Given the description of an element on the screen output the (x, y) to click on. 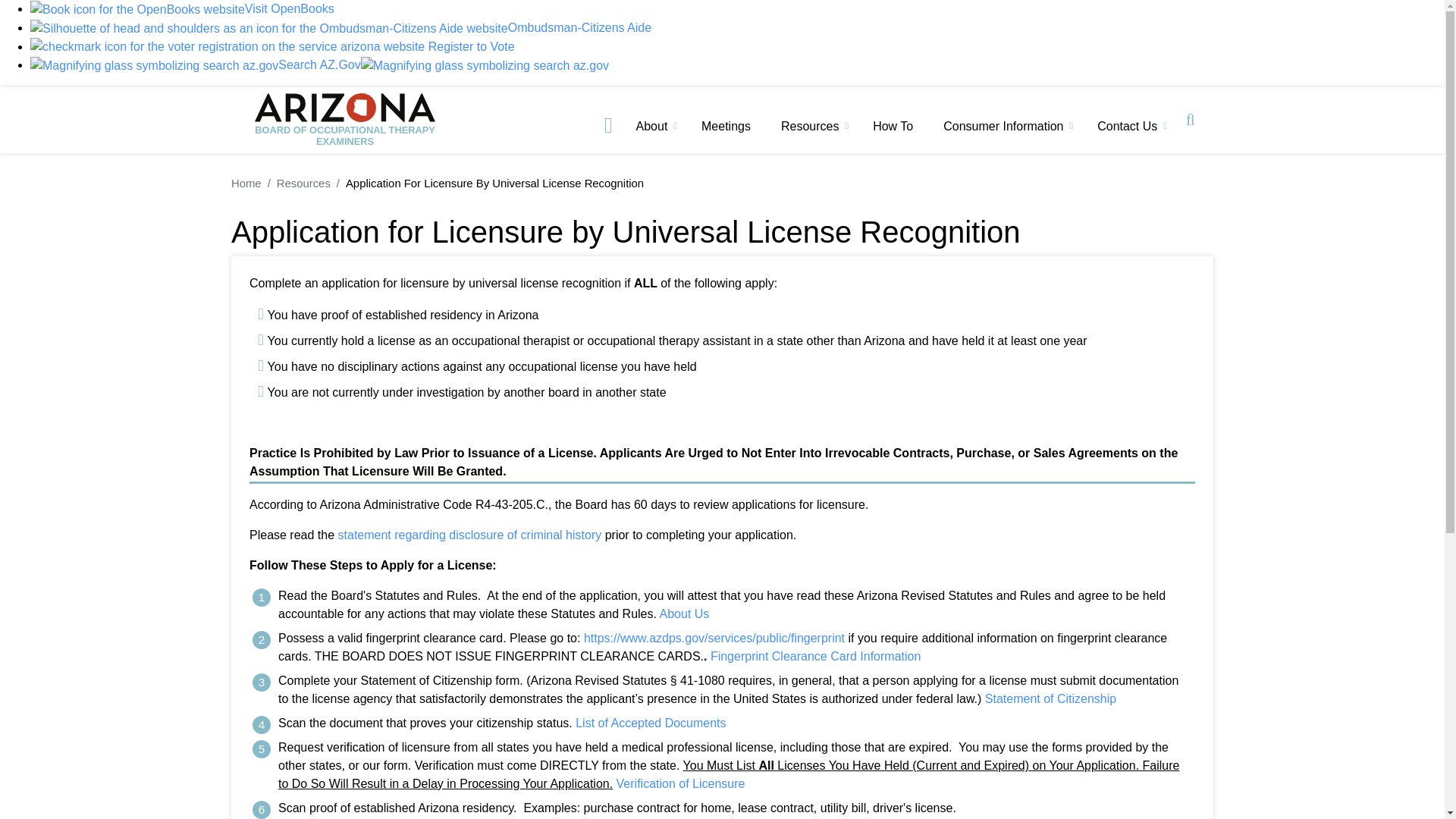
Meetings (729, 132)
Search AZ.Gov (195, 64)
Visit OpenBooks (182, 8)
About (655, 132)
Register to Vote (272, 46)
Consumer Information (1005, 132)
Visit OpenBooks (137, 9)
Ombudsman-Citizens Aide (340, 27)
Contact Us (1130, 132)
Home (344, 119)
Visit OpenBooks - Arizona's Official Transparency Website (182, 8)
Resources (812, 132)
Voter Registration (227, 46)
